Given the description of an element on the screen output the (x, y) to click on. 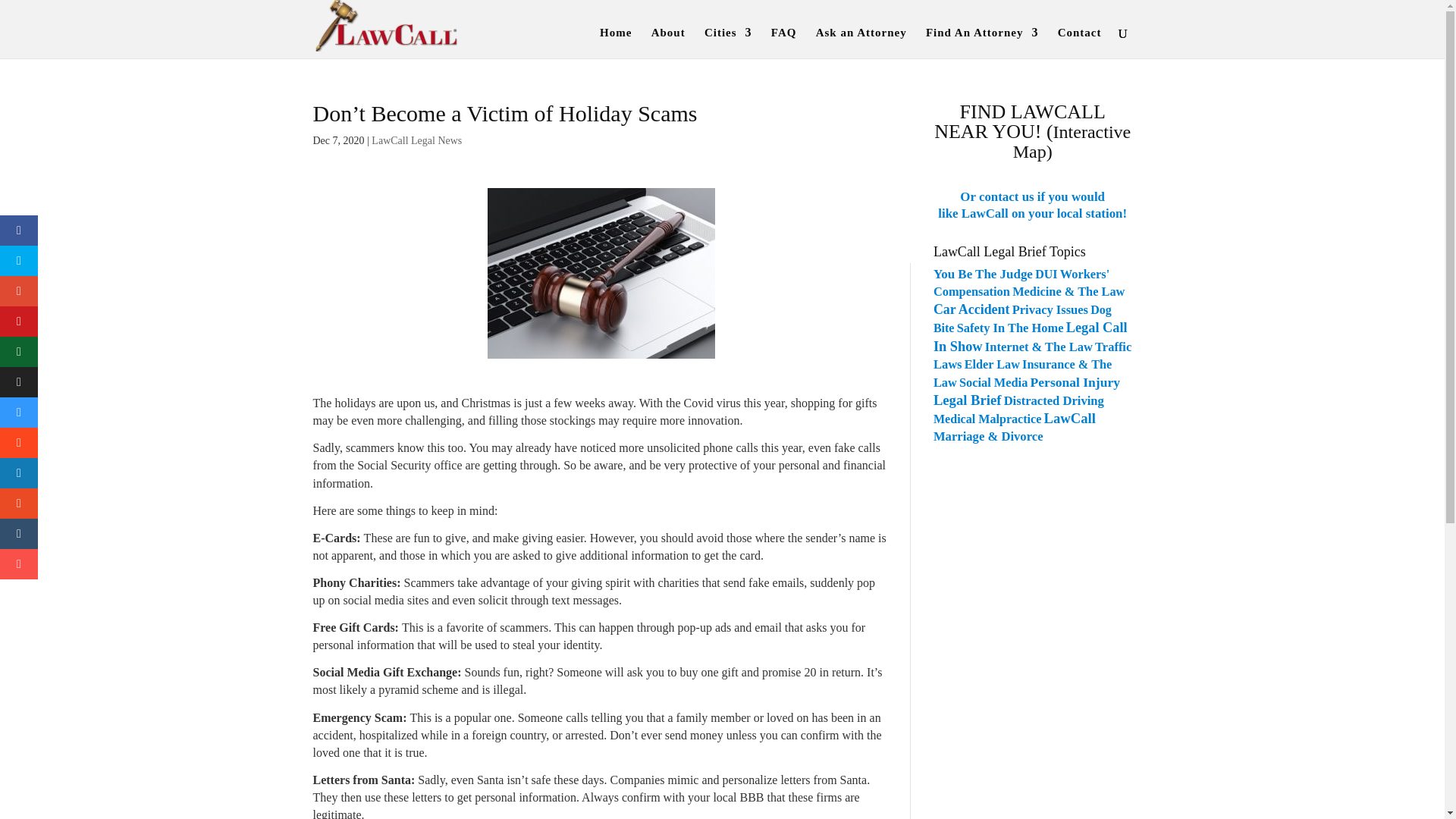
Ask an Attorney (861, 42)
Home (615, 42)
About (667, 42)
Cities (728, 42)
Contact (1080, 42)
Find An Attorney (982, 42)
